Given the description of an element on the screen output the (x, y) to click on. 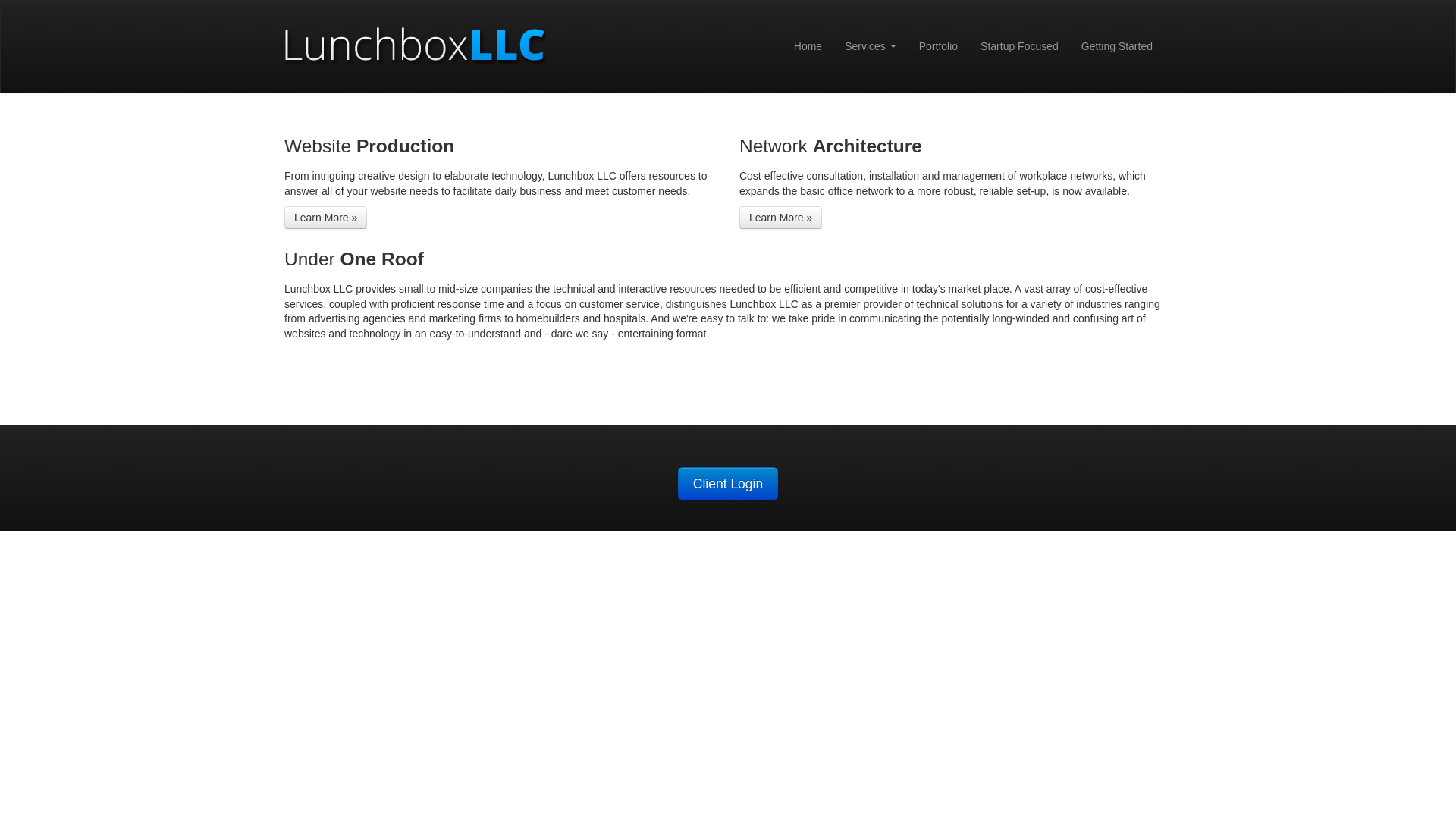
Portfolio (938, 46)
Client Login (727, 483)
Home (807, 46)
Startup Focused (1019, 46)
Getting Started (1116, 46)
Services (869, 46)
Client Login (727, 483)
